Given the description of an element on the screen output the (x, y) to click on. 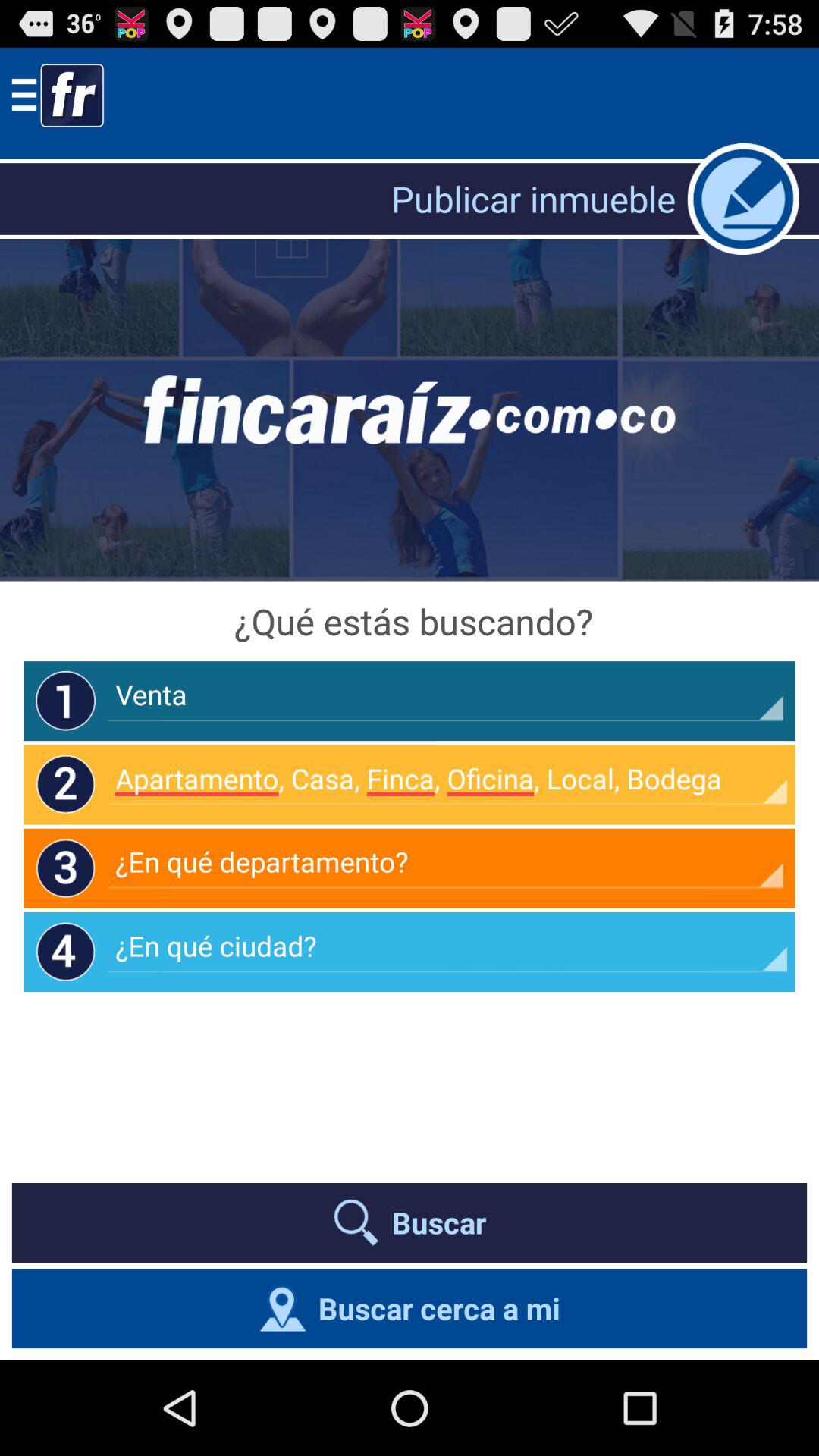
button to begin writing an advertisement (743, 198)
